Given the description of an element on the screen output the (x, y) to click on. 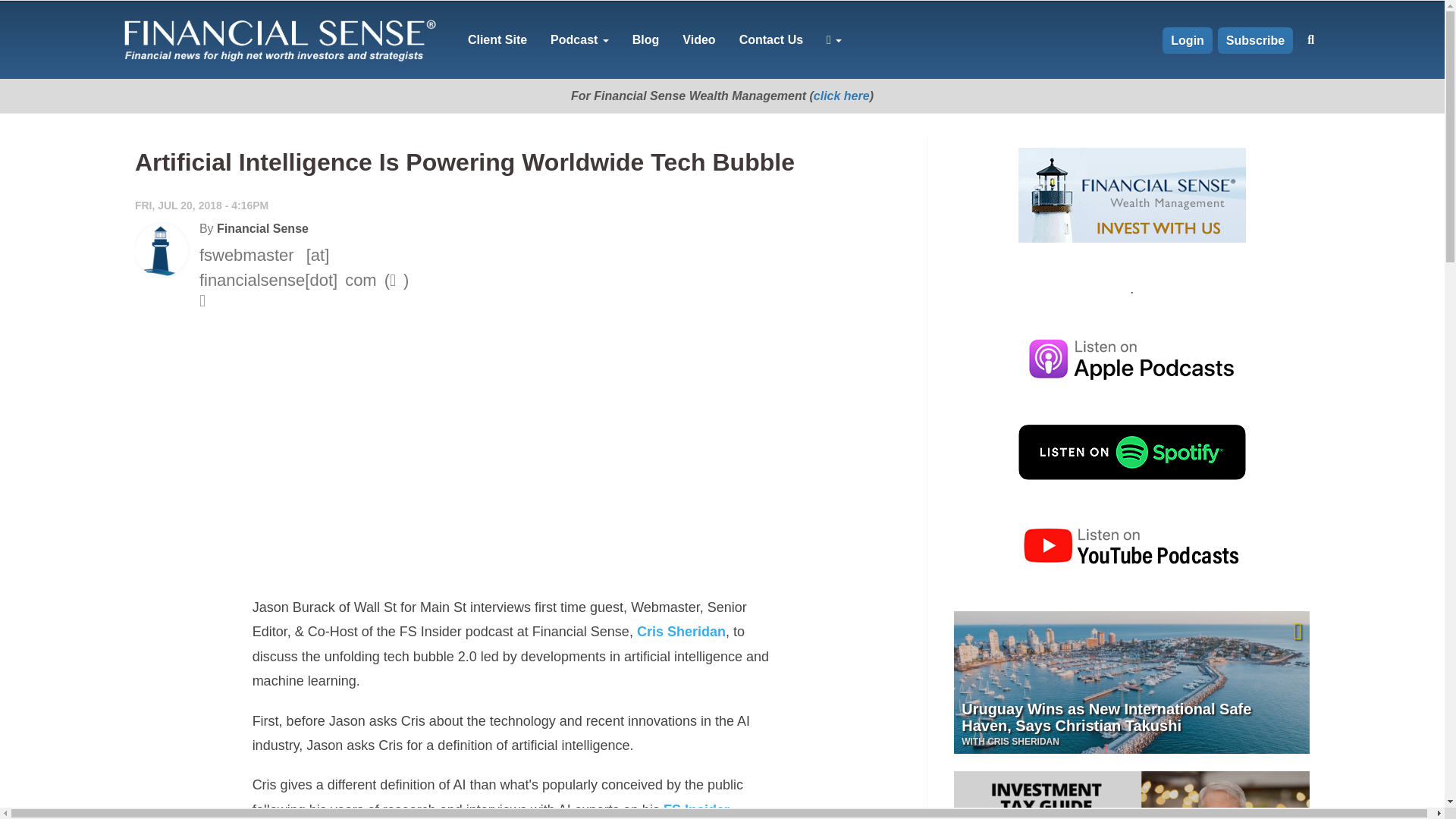
Subscribe (1254, 40)
spotify (1131, 452)
Client Site (497, 39)
Login (1186, 40)
Contact Us (771, 39)
Blog (645, 39)
View profile. (161, 249)
apple podcast (1131, 359)
View profile. (262, 228)
Podcast (580, 39)
Financial Sense Wealth Management: Invest With Us (1131, 195)
Financial Sense (262, 228)
Home - Financial Sense (278, 40)
Video (698, 39)
